Given the description of an element on the screen output the (x, y) to click on. 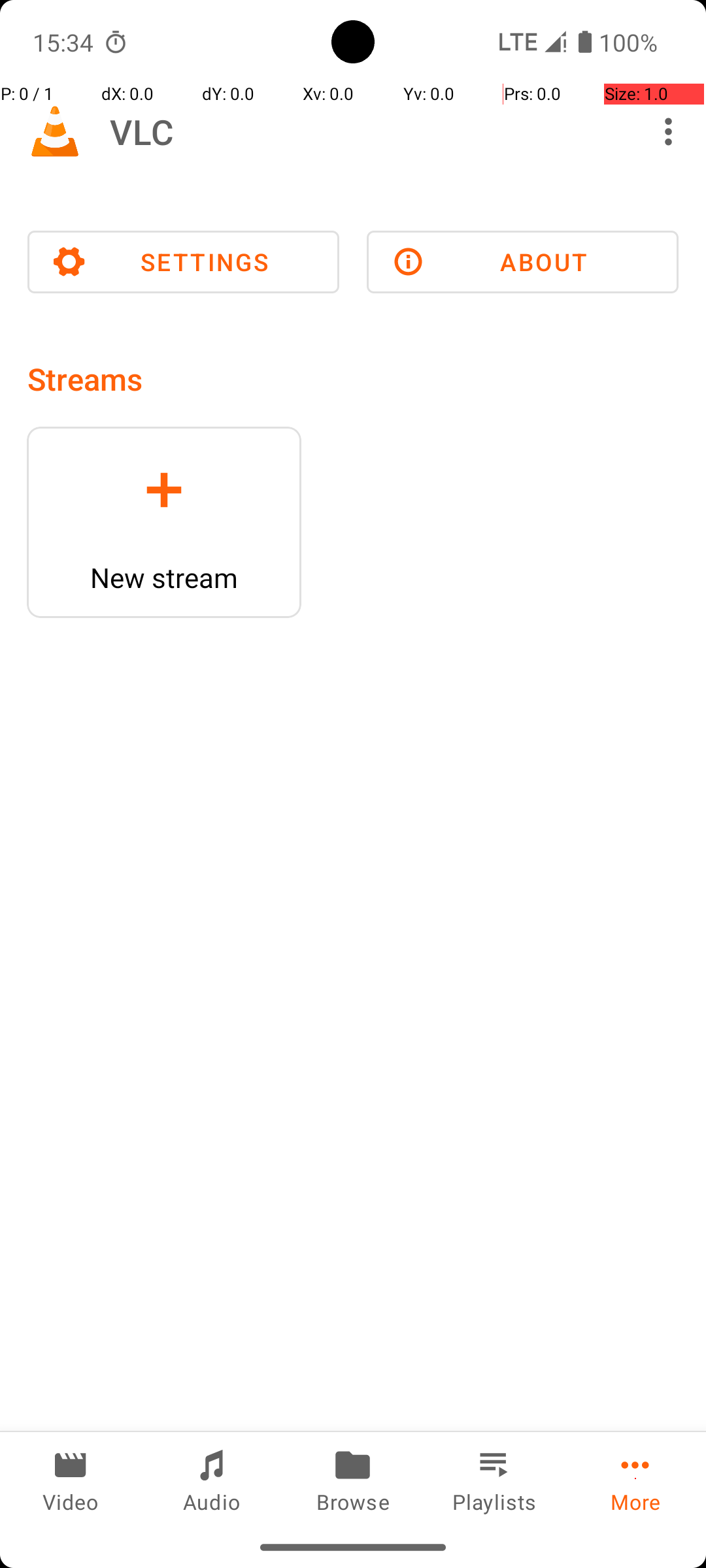
SETTINGS Element type: android.widget.Button (183, 261)
ABOUT Element type: android.widget.Button (522, 261)
Streams Element type: android.widget.TextView (84, 378)
New stream Element type: android.widget.TextView (163, 576)
